Given the description of an element on the screen output the (x, y) to click on. 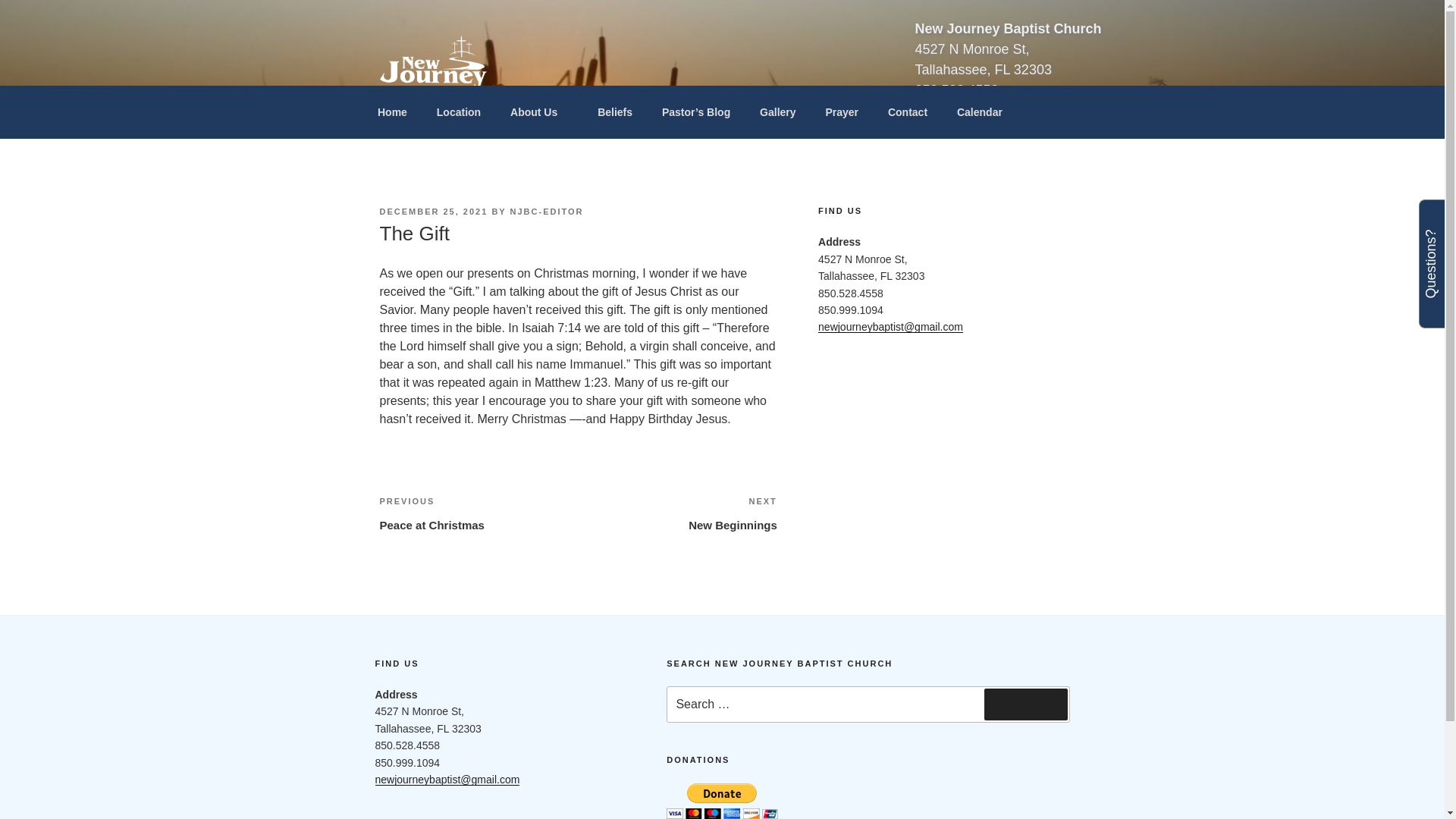
Calendar (978, 112)
Gallery (677, 513)
Location (777, 112)
Prayer (458, 112)
PayPal - The safer, easier way to pay online! (842, 112)
Search (721, 800)
Contact (1025, 704)
About Us (907, 112)
DECEMBER 25, 2021 (538, 112)
New Journey Baptist Church (432, 211)
NJBC-EDITOR (577, 119)
Beliefs (547, 211)
Home (478, 513)
